Given the description of an element on the screen output the (x, y) to click on. 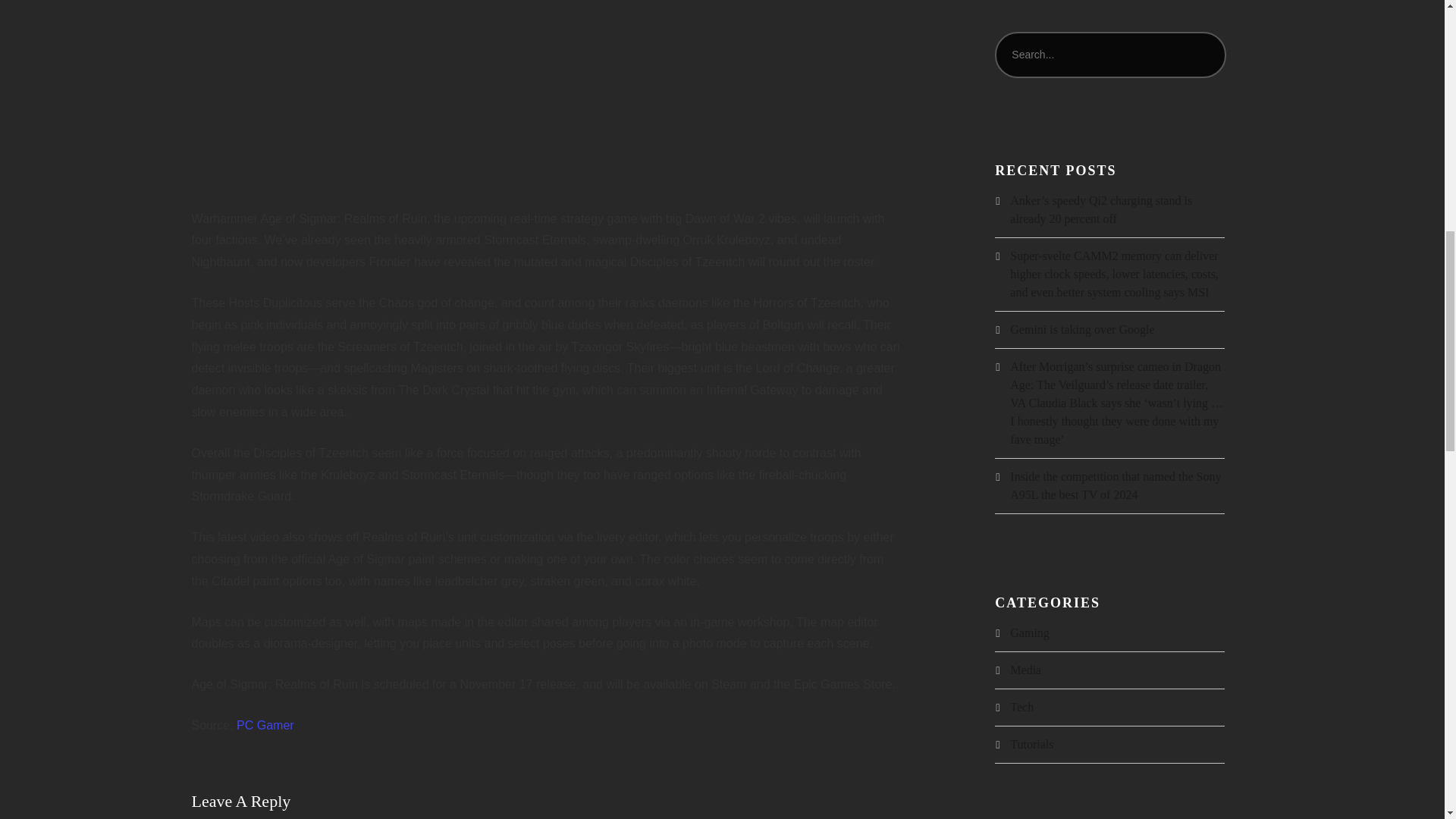
Tutorials (1031, 744)
PC Gamer (264, 725)
Media (1025, 669)
Tech (1021, 707)
Gaming (1029, 632)
Gemini is taking over Google (1082, 328)
